Given the description of an element on the screen output the (x, y) to click on. 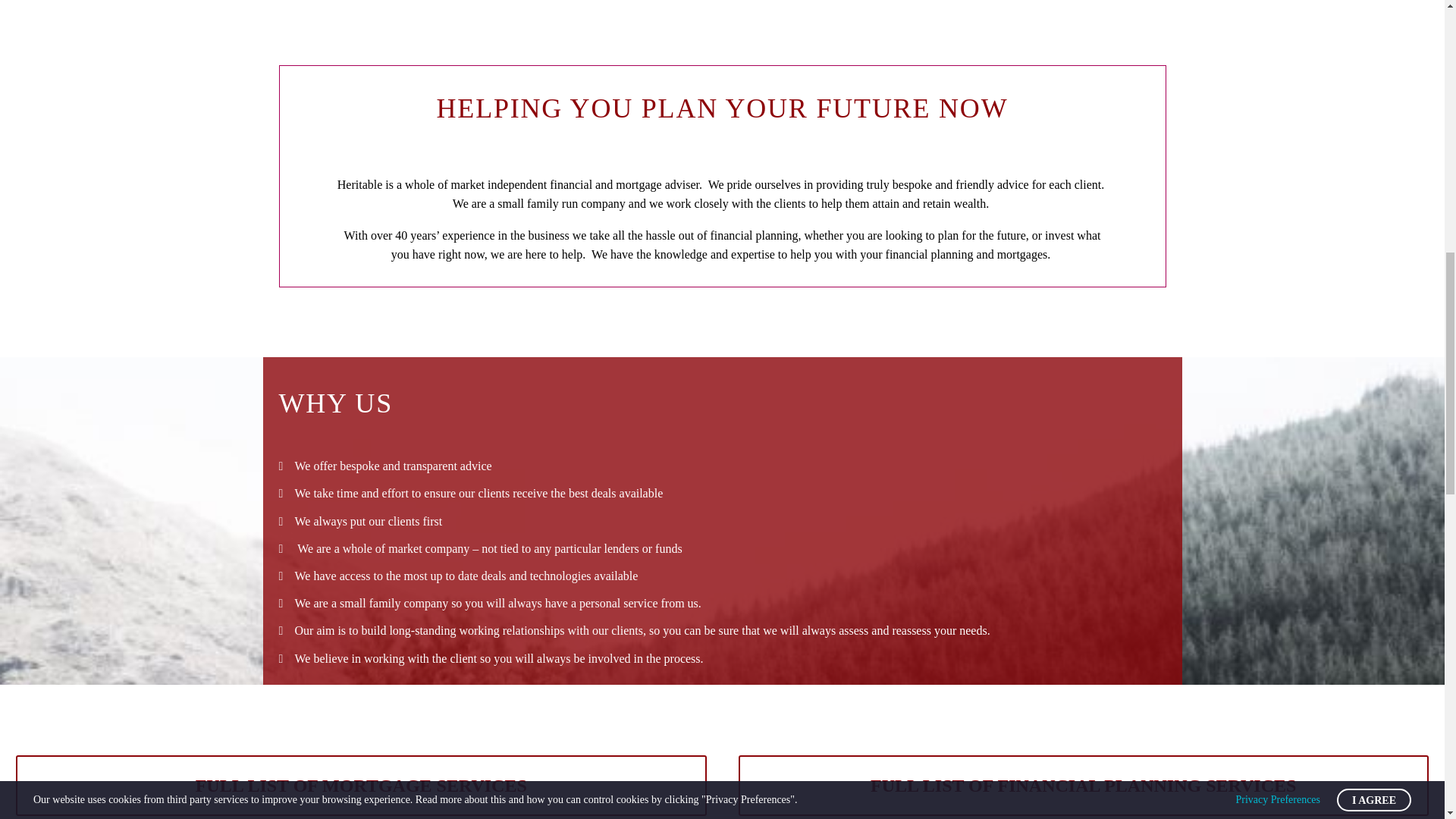
FULL LIST OF FINANCIAL PLANNING SERVICES (1083, 785)
Financial Planning (1083, 785)
Mortgages (361, 785)
FULL LIST OF MORTGAGE SERVICES (361, 785)
